Given the description of an element on the screen output the (x, y) to click on. 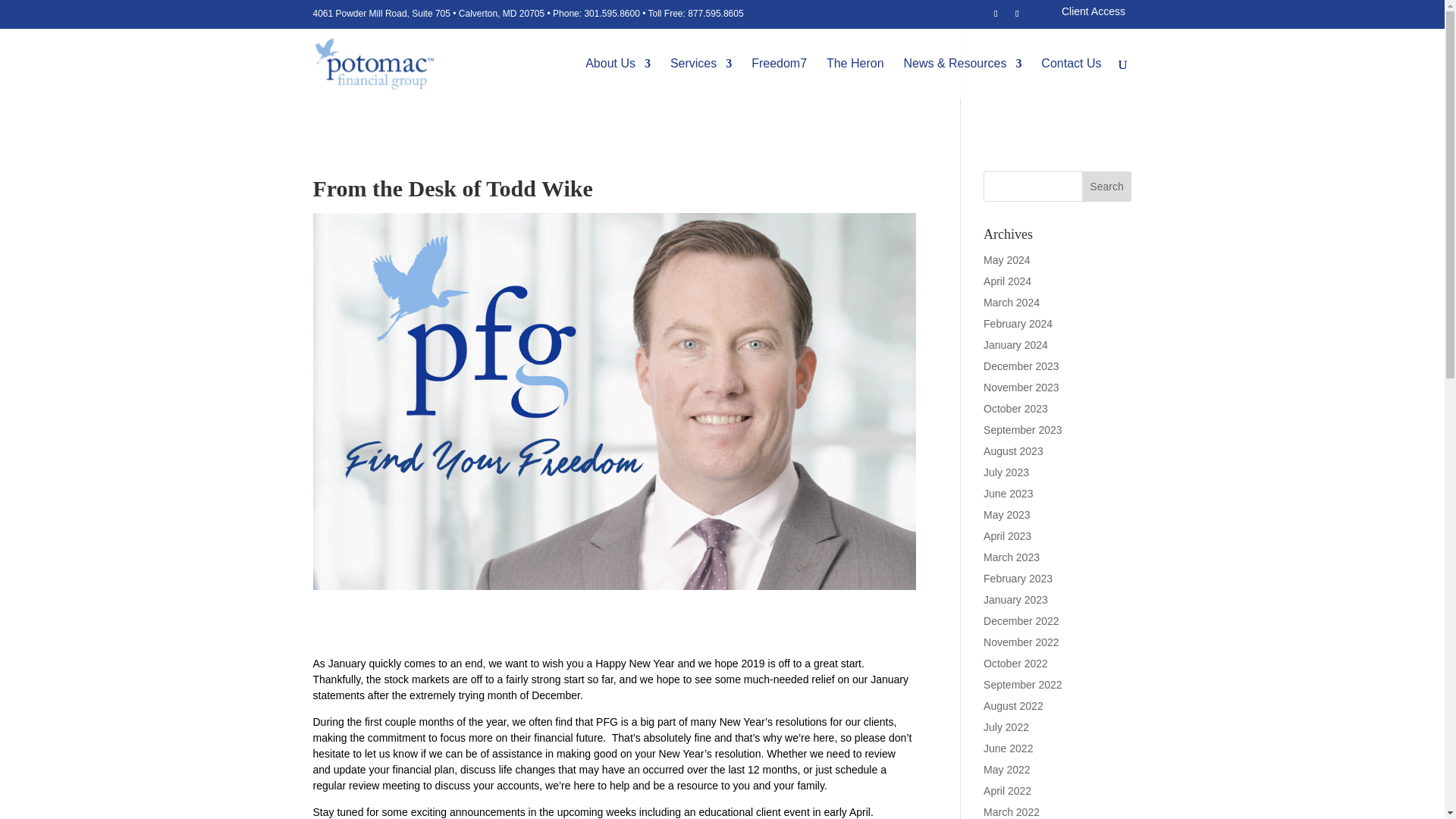
Freedom7 (778, 78)
The Heron (855, 78)
Search (1106, 186)
Contact Us (1070, 78)
About Us (617, 78)
Services (700, 78)
